Given the description of an element on the screen output the (x, y) to click on. 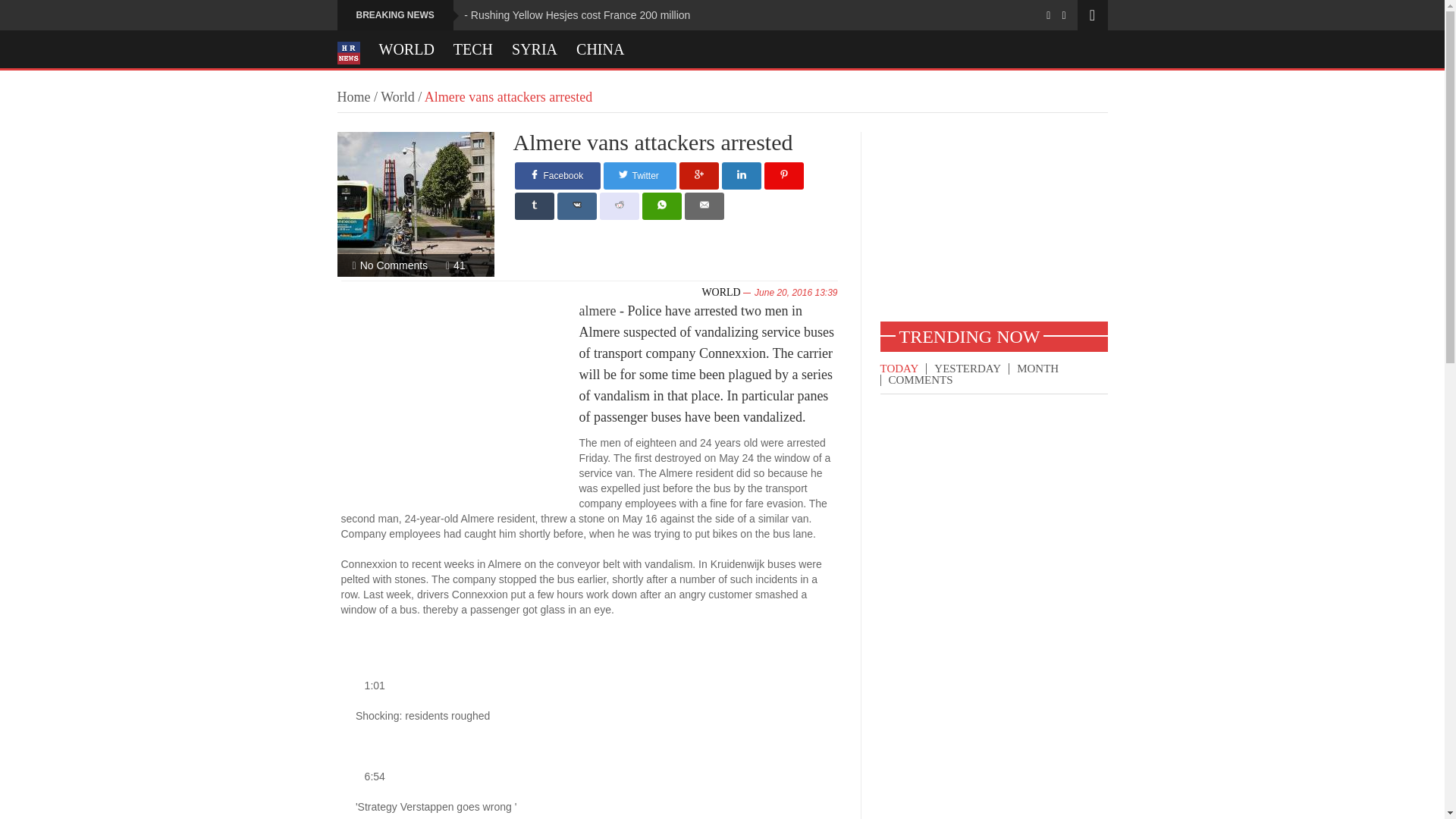
Home (352, 96)
SYRIA (534, 48)
WORLD (720, 292)
No Comments (393, 265)
Advertisement (992, 226)
CHINA (600, 48)
almere (597, 310)
Comment on Almere vans attackers arrested (393, 265)
World (397, 96)
WORLD (405, 48)
Advertisement (459, 400)
TECH (472, 48)
